Given the description of an element on the screen output the (x, y) to click on. 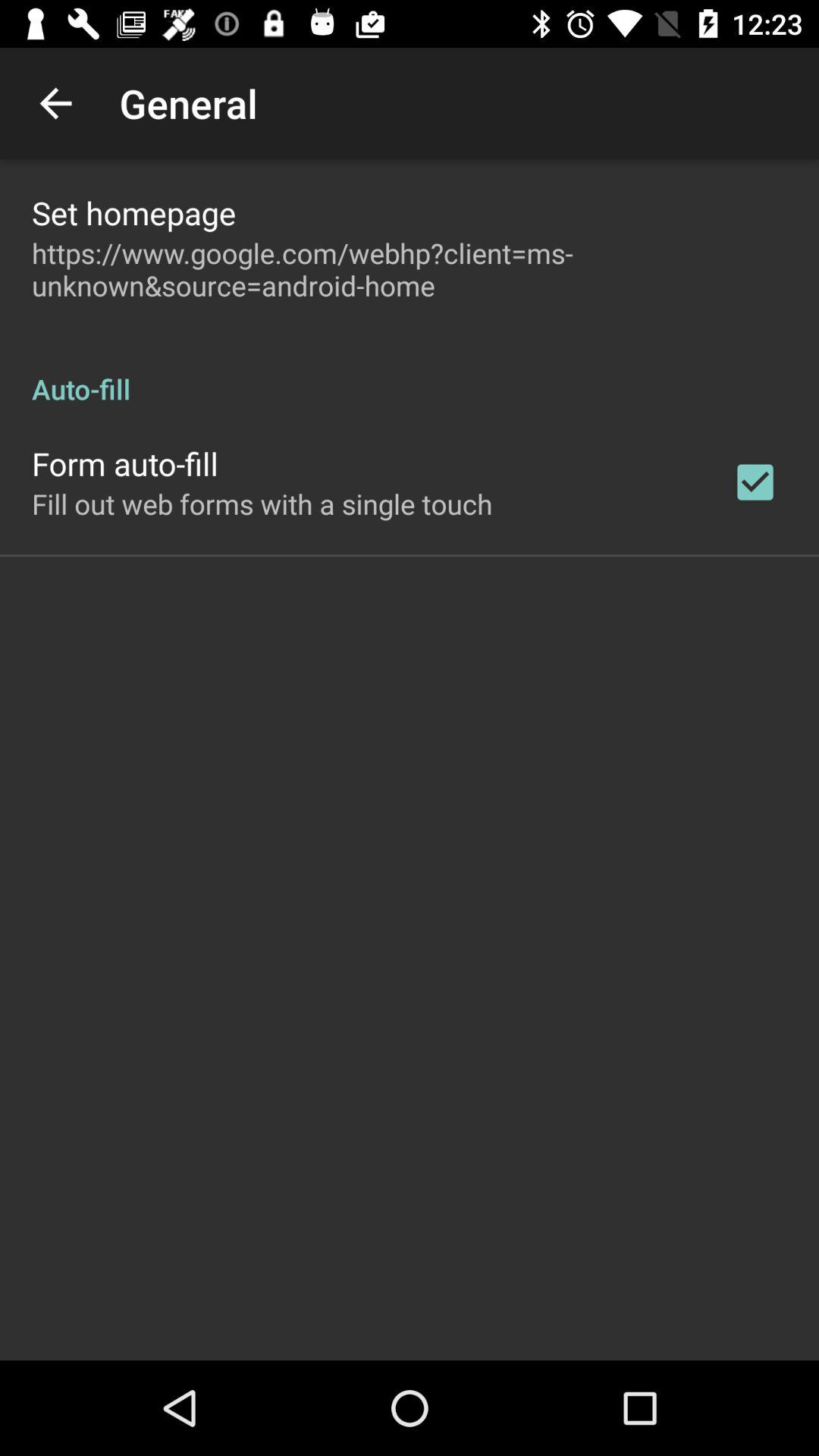
turn on the item above the https www google item (133, 212)
